Given the description of an element on the screen output the (x, y) to click on. 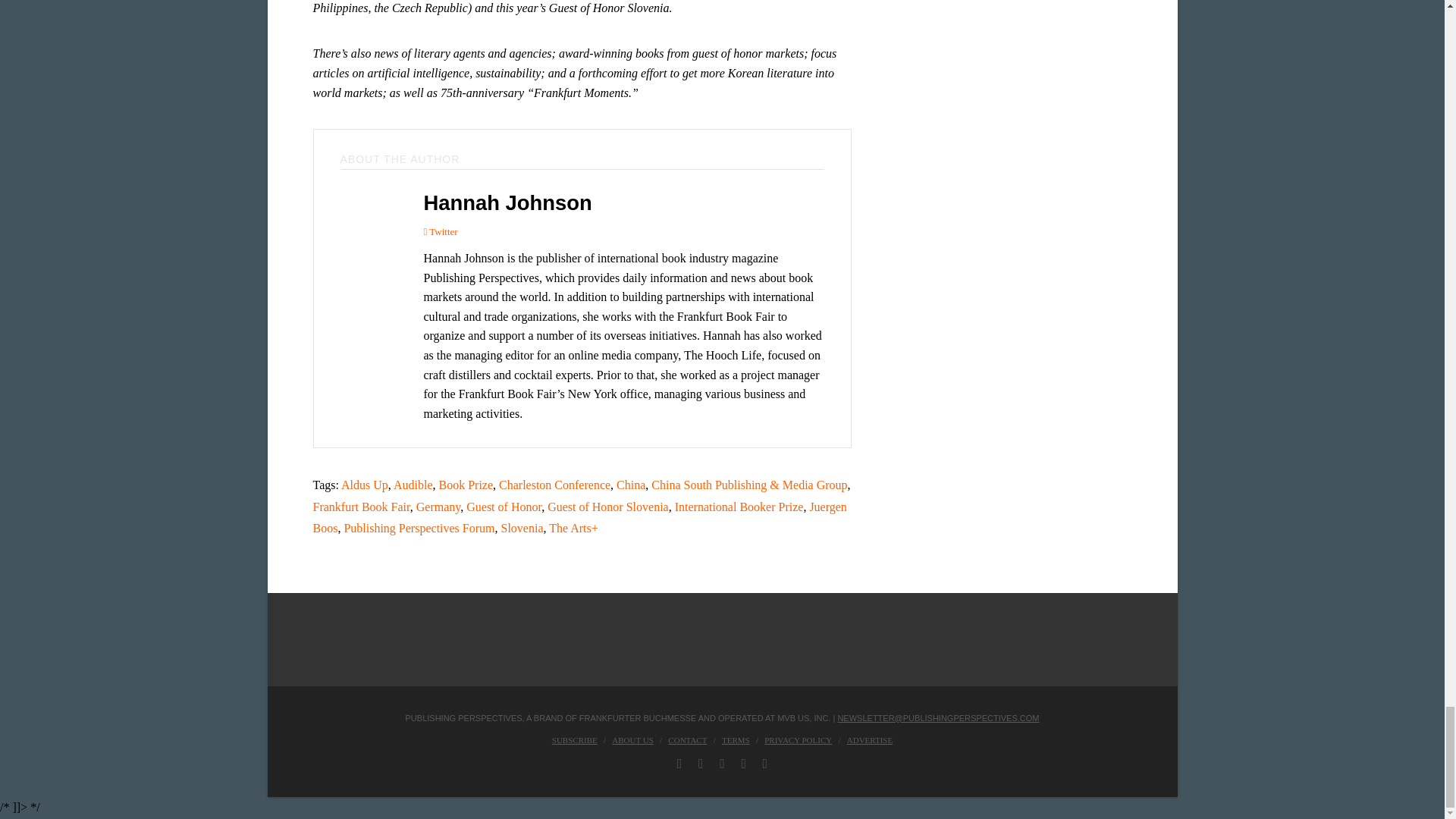
Aldus Up (364, 484)
Twitter (440, 231)
Visit the Twitter Profile for Hannah Johnson (440, 231)
Subscribe to Publishing Perspectives (573, 739)
Terms and Conditions (735, 739)
